Given the description of an element on the screen output the (x, y) to click on. 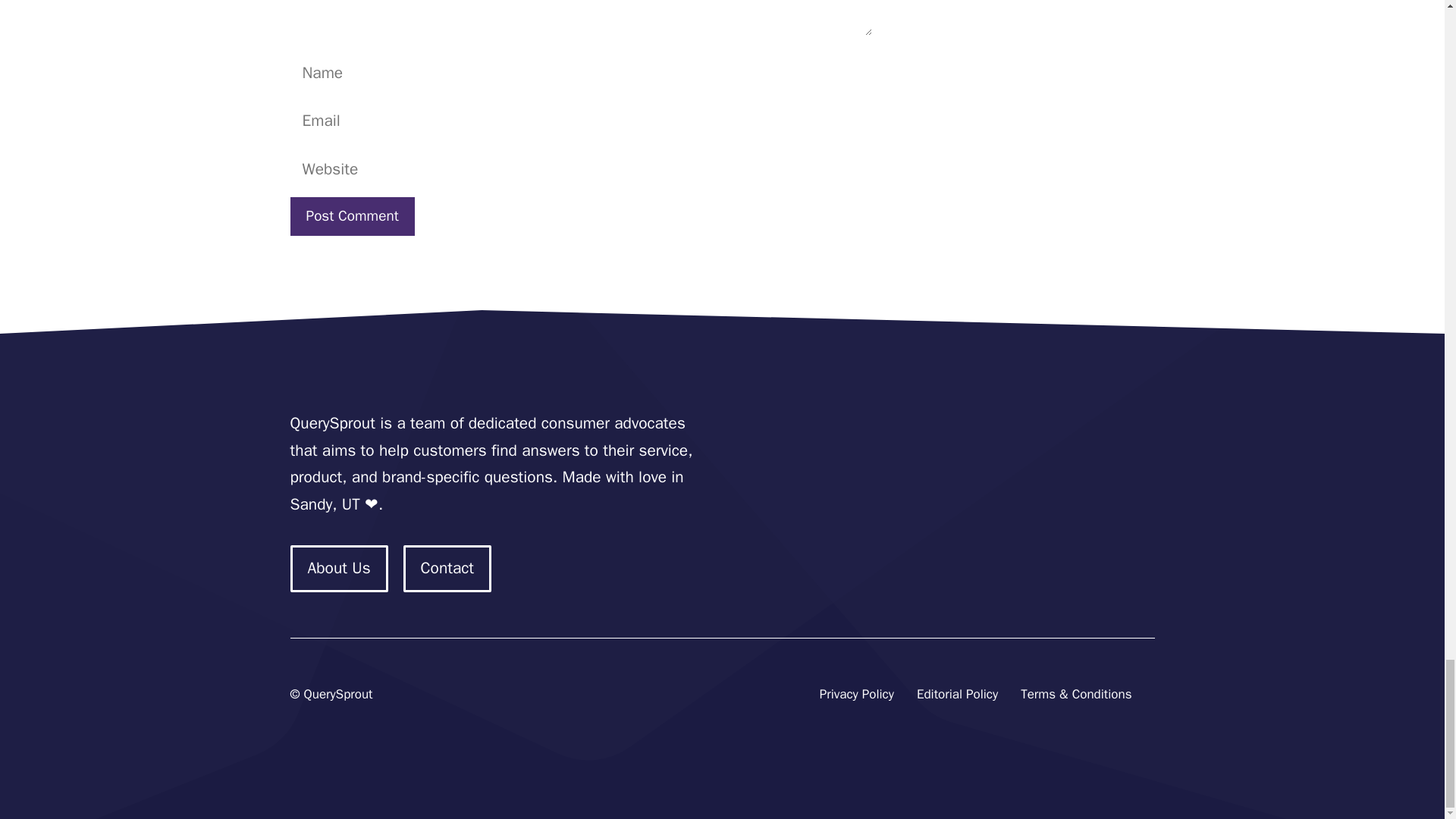
Editorial Policy (957, 694)
Post Comment (351, 216)
Post Comment (351, 216)
Contact (447, 568)
About Us (338, 568)
Privacy Policy (856, 694)
